Given the description of an element on the screen output the (x, y) to click on. 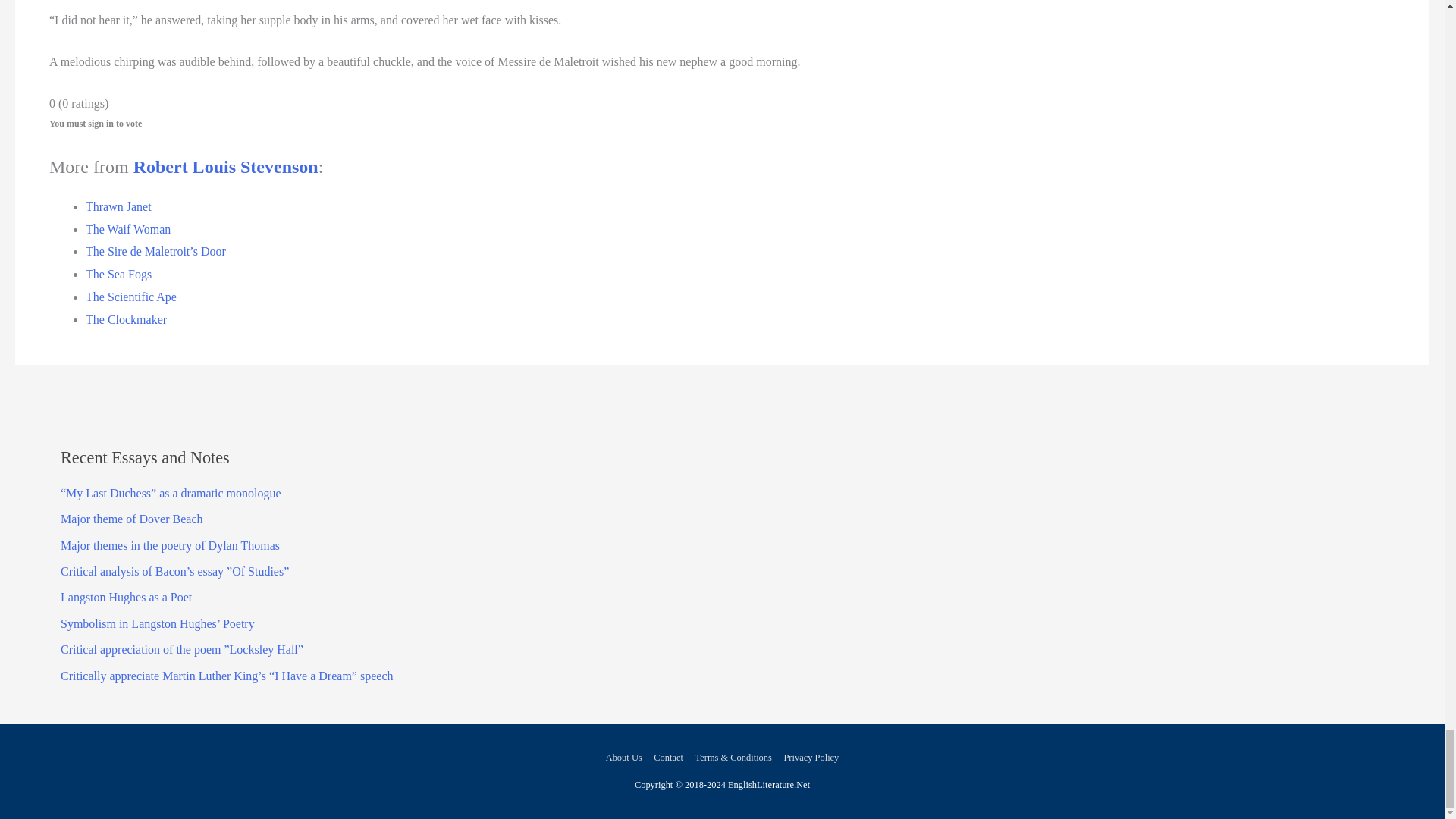
Privacy Policy (808, 757)
Langston Hughes as a Poet (126, 596)
The Clockmaker (126, 318)
Thrawn Janet (118, 205)
Major theme of Dover Beach (131, 518)
The Scientific Ape (130, 296)
Robert Louis Stevenson (225, 166)
Major themes in the poetry of Dylan Thomas (170, 545)
About Us (625, 757)
Contact (668, 757)
The Waif Woman (127, 228)
The Sea Fogs (118, 273)
